Given the description of an element on the screen output the (x, y) to click on. 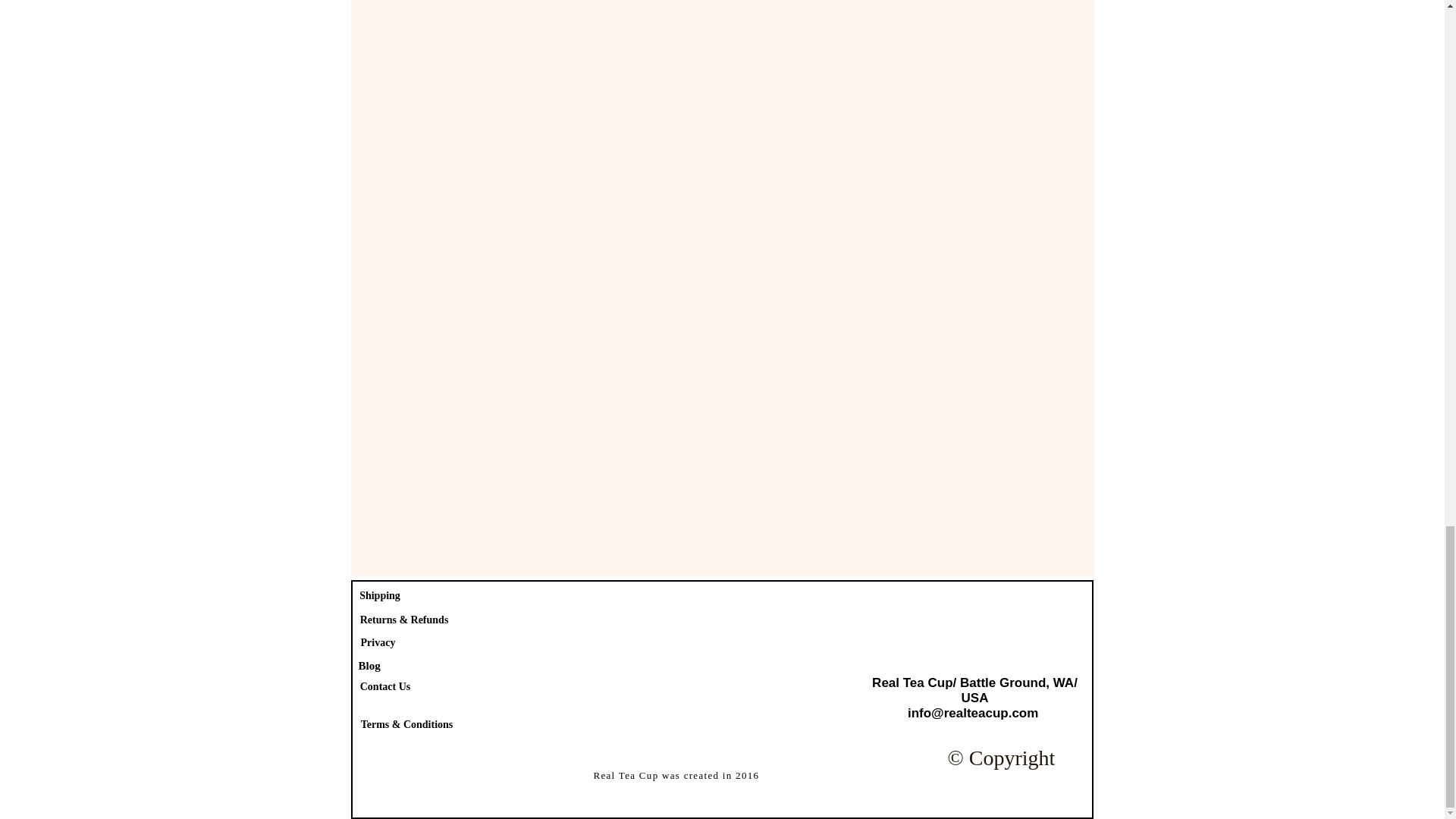
Privacy (378, 642)
Contact Us (384, 686)
Shipping (379, 595)
Blog (371, 666)
